Given the description of an element on the screen output the (x, y) to click on. 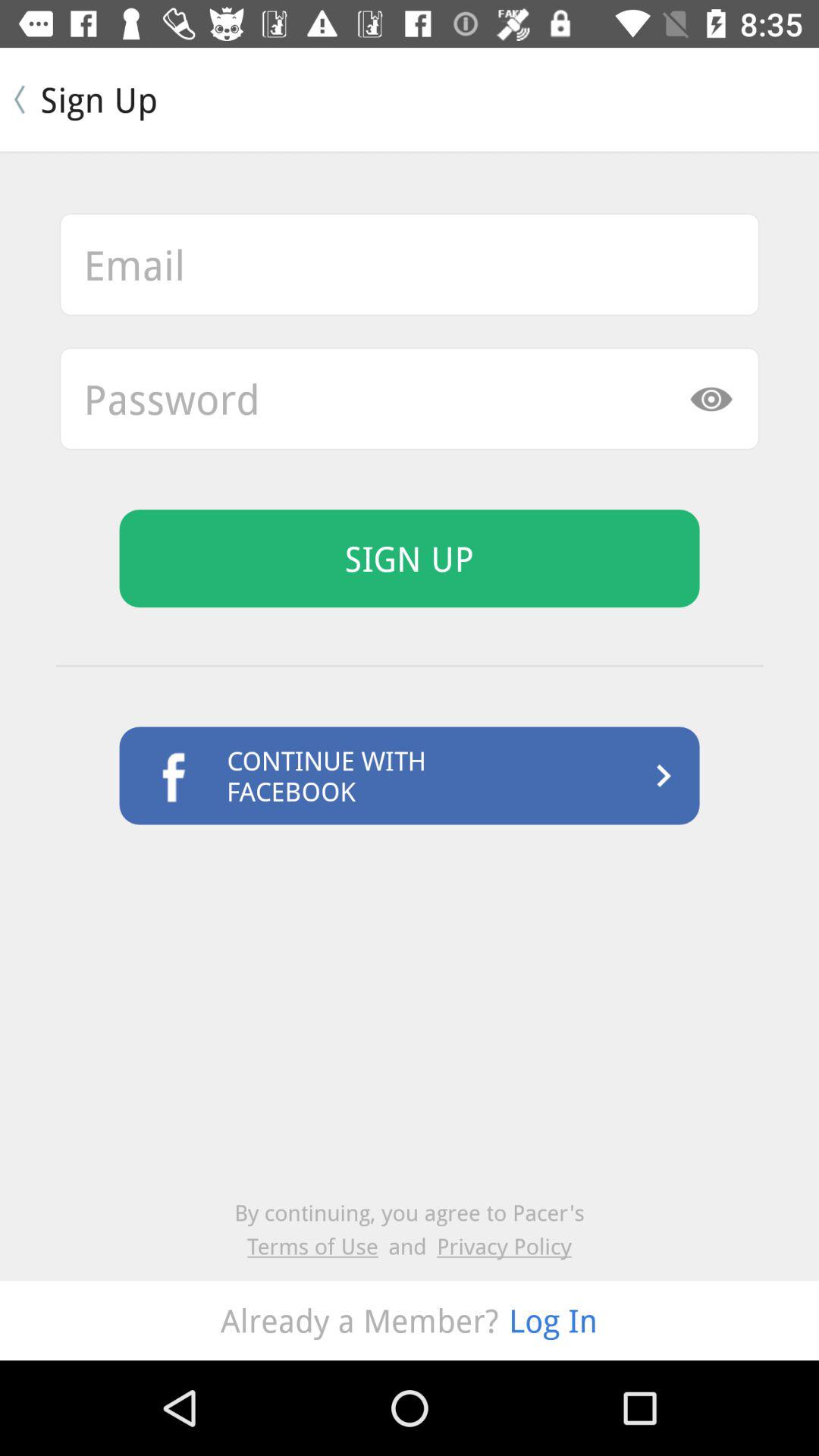
enter email bar (409, 264)
